Given the description of an element on the screen output the (x, y) to click on. 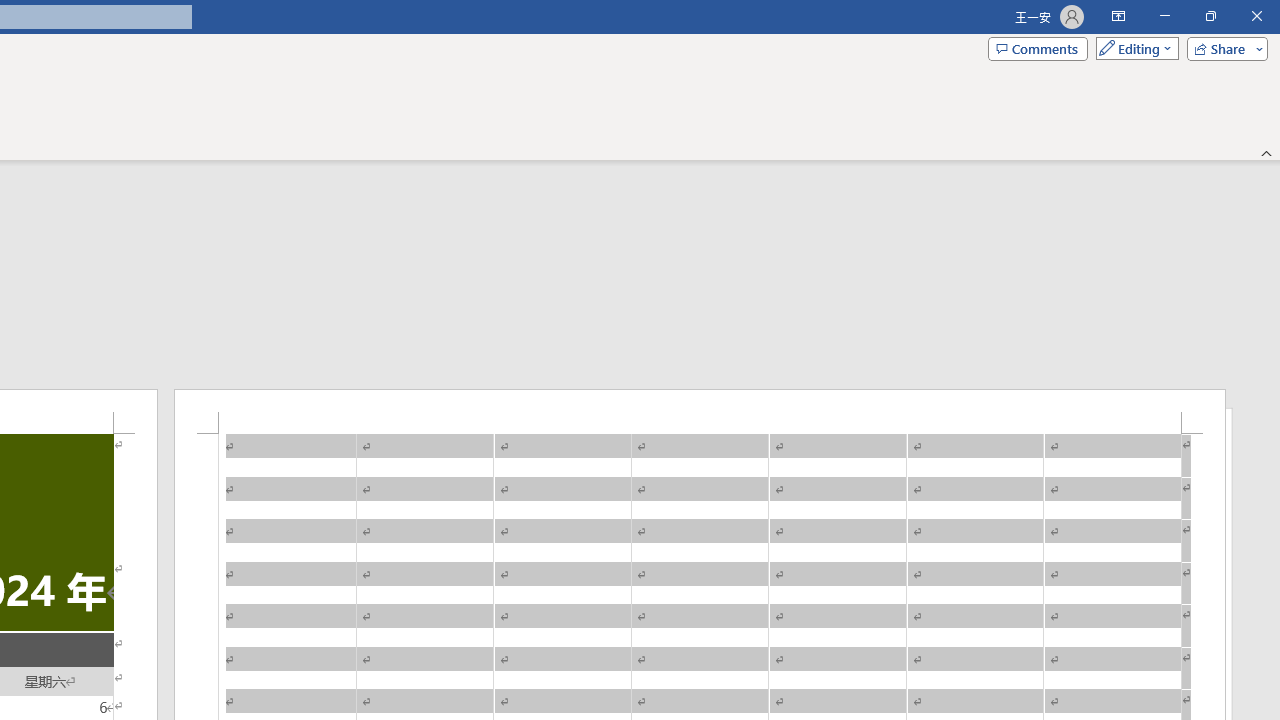
Comments (1038, 48)
Share (1223, 48)
Minimize (1164, 16)
Close (1256, 16)
Restore Down (1210, 16)
Header -Section 1- (700, 411)
Collapse the Ribbon (1267, 152)
Ribbon Display Options (1118, 16)
Mode (1133, 47)
